Given the description of an element on the screen output the (x, y) to click on. 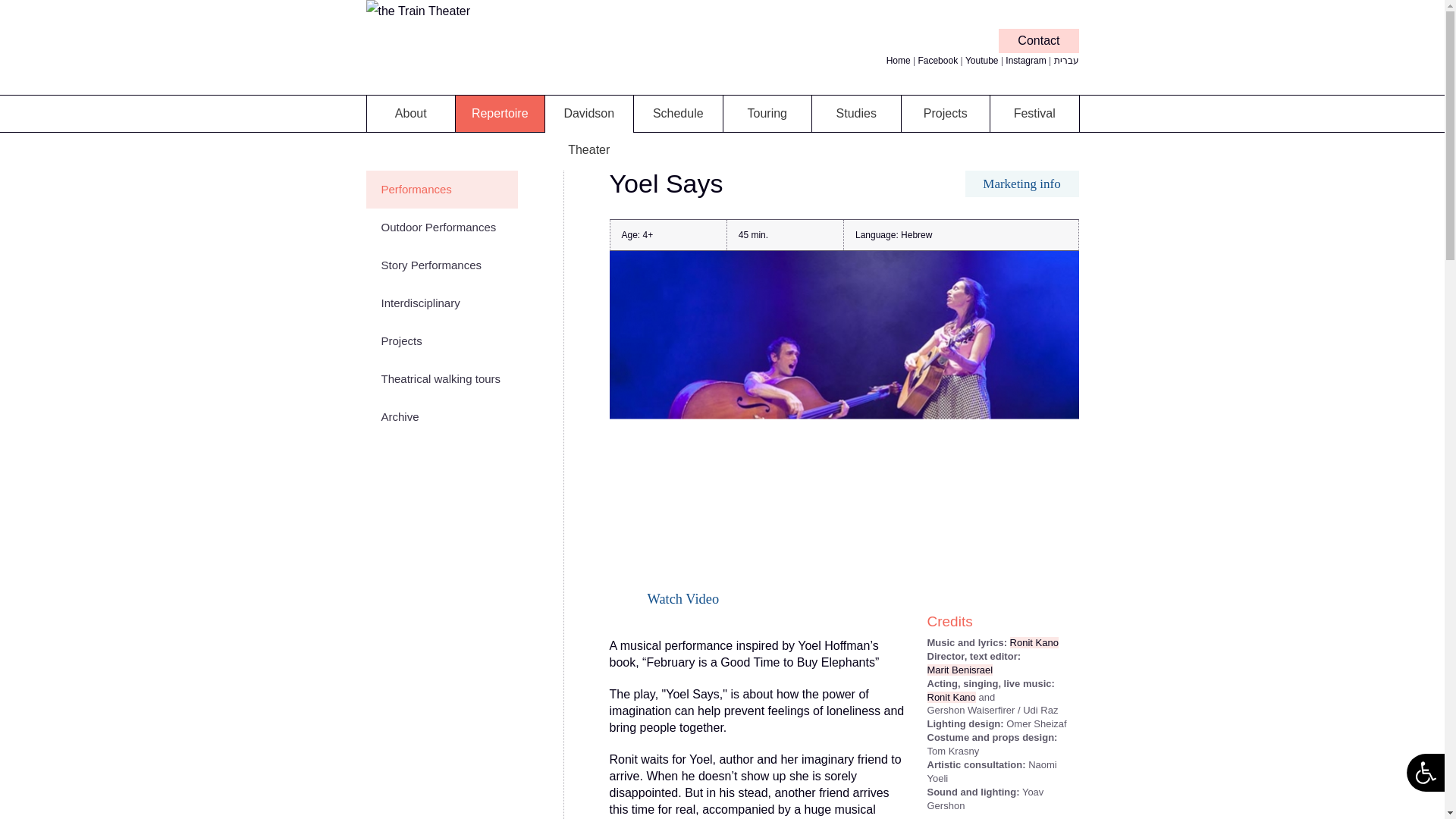
About (410, 113)
Repertoire (499, 113)
Skip to main content (685, 1)
Instagram (1025, 60)
Home (898, 60)
Davidson Theater (588, 131)
the Train Theater (417, 10)
Schedule (677, 113)
Facebook (937, 60)
Youtube (981, 60)
